Given the description of an element on the screen output the (x, y) to click on. 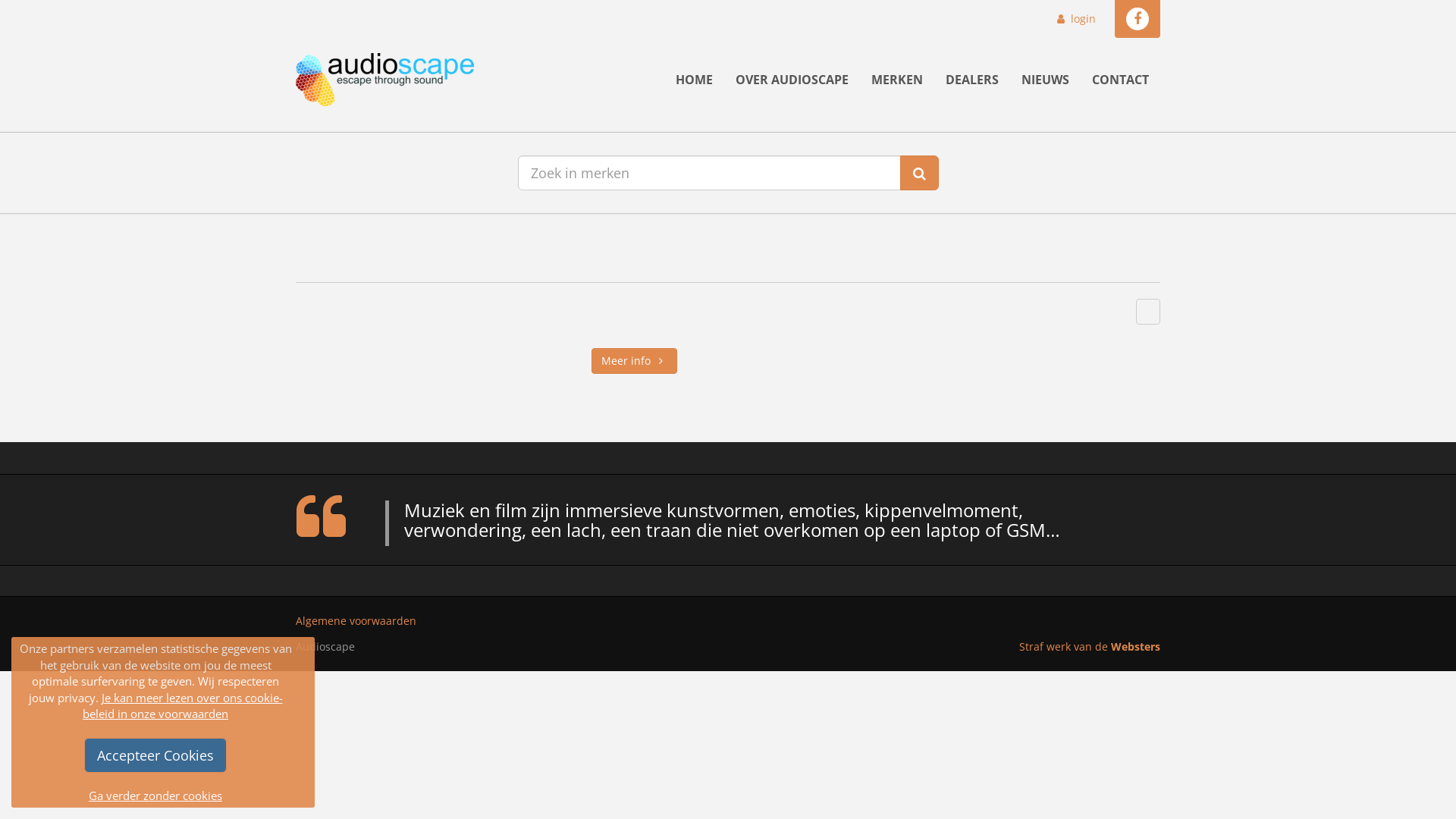
DEALERS Element type: text (972, 79)
Algemene voorwaarden Element type: text (355, 620)
Meer info Element type: text (634, 360)
login Element type: text (1074, 18)
Ga verder zonder cookies Element type: text (155, 795)
Je kan meer lezen over ons cookie-beleid in onze voorwaarden Element type: text (182, 705)
NIEUWS Element type: text (1045, 79)
MERKEN Element type: text (896, 79)
Straf werk van de Websters Element type: text (1089, 646)
HOME Element type: text (694, 79)
Accepteer Cookies Element type: text (155, 754)
CONTACT Element type: text (1120, 79)
OVER AUDIOSCAPE Element type: text (791, 79)
